Given the description of an element on the screen output the (x, y) to click on. 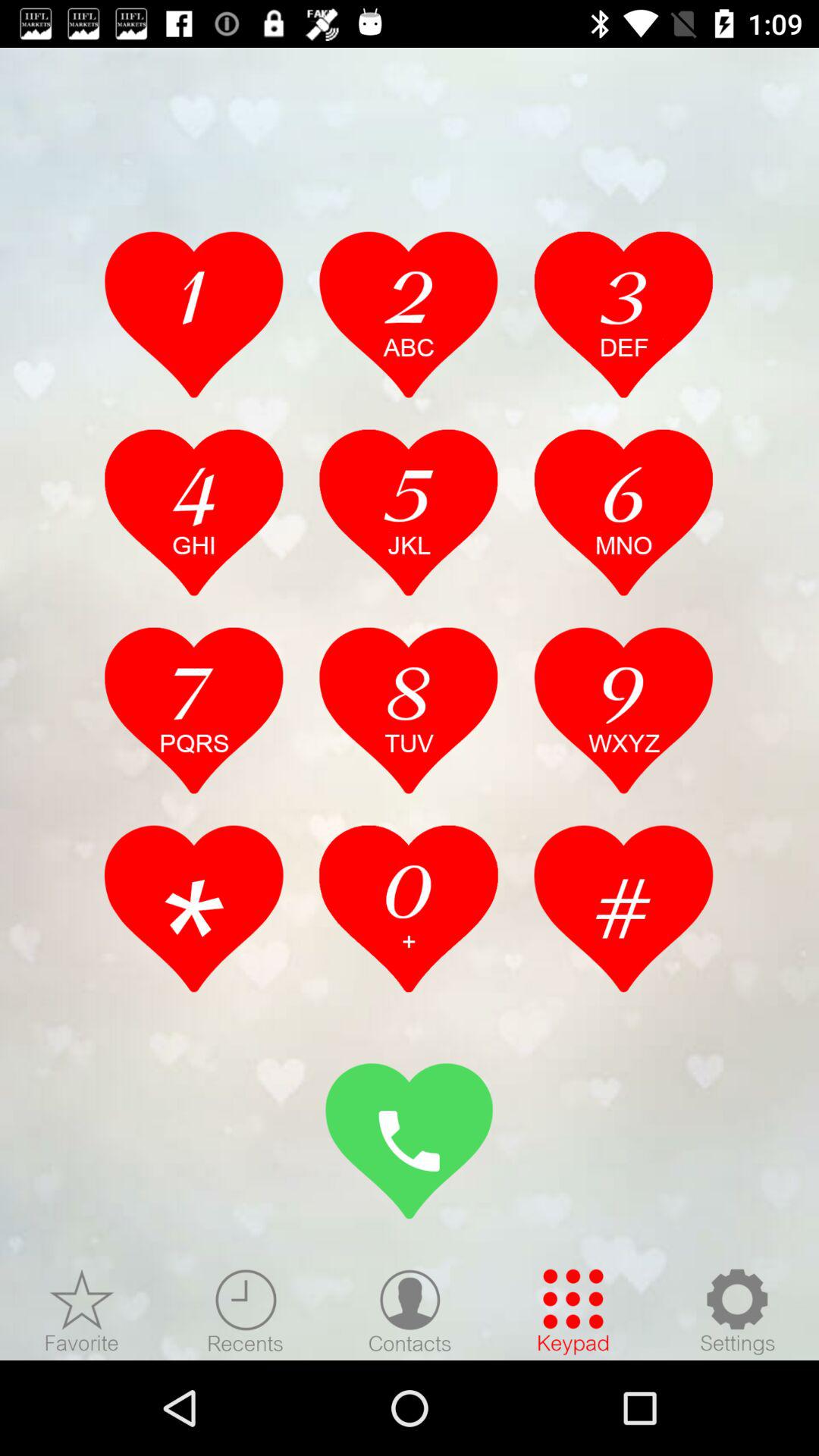
dial 6 (623, 512)
